Given the description of an element on the screen output the (x, y) to click on. 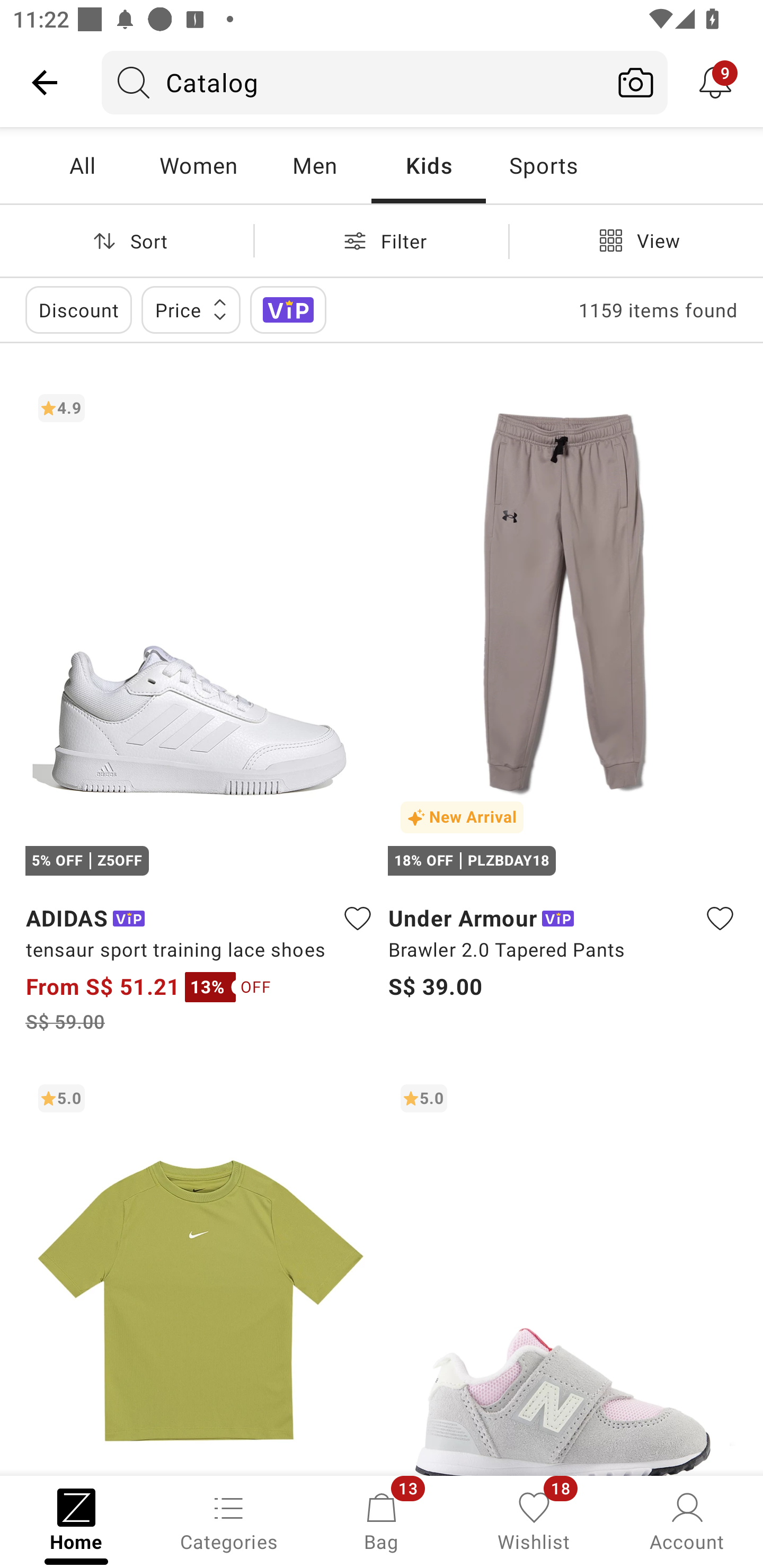
Navigate up (44, 82)
Catalog (352, 82)
All (82, 165)
Women (198, 165)
Men (314, 165)
Sports (543, 165)
Sort (126, 240)
Filter (381, 240)
View (636, 240)
Discount (78, 309)
Price (190, 309)
5.0 (200, 1272)
5.0 (562, 1272)
Categories (228, 1519)
Bag, 13 new notifications Bag (381, 1519)
Wishlist, 18 new notifications Wishlist (533, 1519)
Account (686, 1519)
